Given the description of an element on the screen output the (x, y) to click on. 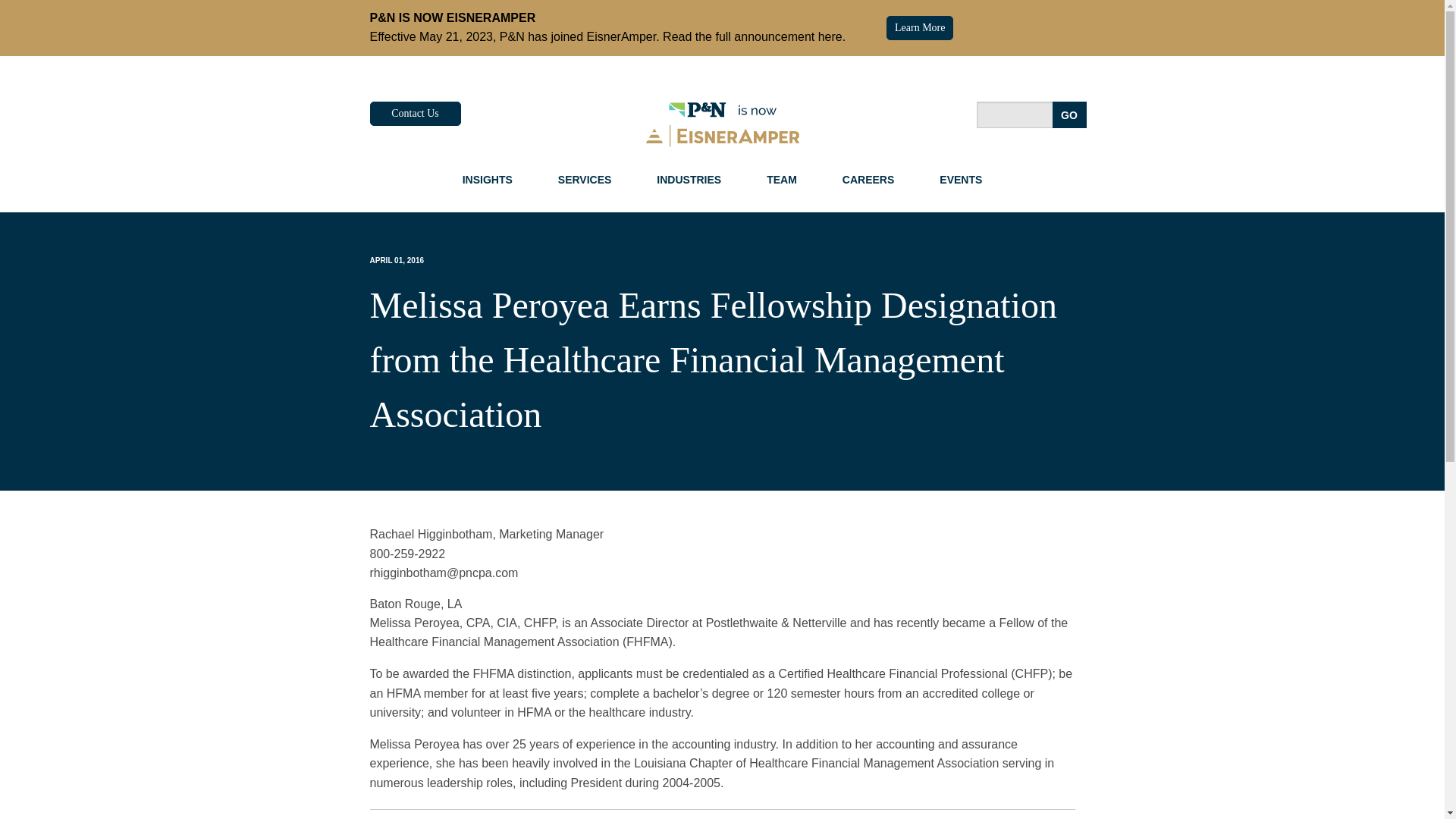
Go (1069, 114)
Contact Us (415, 113)
INSIGHTS (486, 179)
Learn More (919, 27)
INDUSTRIES (689, 179)
SERVICES (585, 179)
Go (1069, 114)
